Given the description of an element on the screen output the (x, y) to click on. 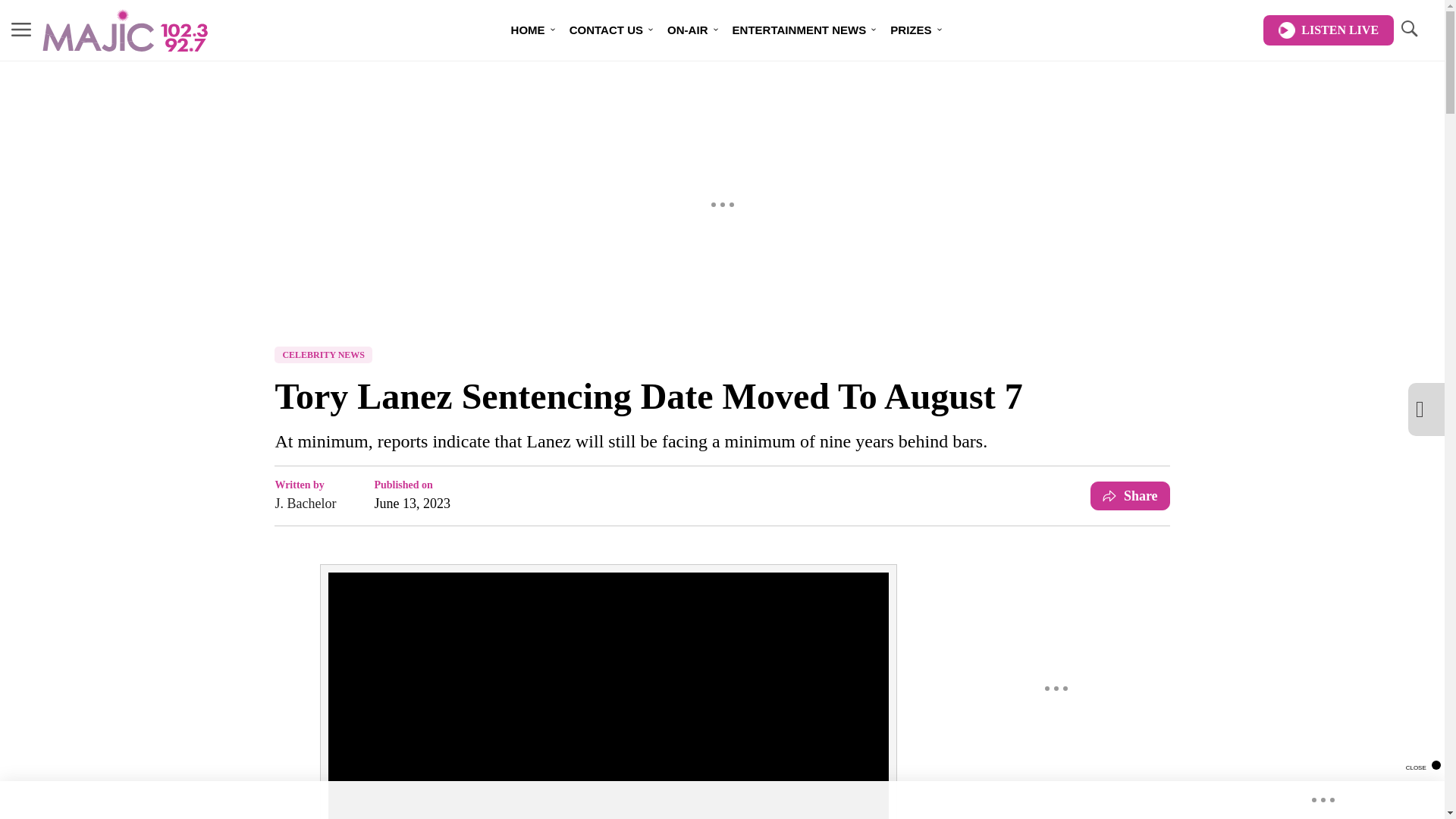
CELEBRITY NEWS (323, 354)
LISTEN LIVE (1328, 30)
HOME (528, 30)
MENU (20, 29)
J. Bachelor (305, 503)
ON-AIR (687, 30)
ENTERTAINMENT NEWS (799, 30)
PRIZES (910, 30)
TOGGLE SEARCH (1408, 28)
MENU (20, 30)
TOGGLE SEARCH (1408, 30)
Share (1130, 495)
CONTACT US (606, 30)
